Given the description of an element on the screen output the (x, y) to click on. 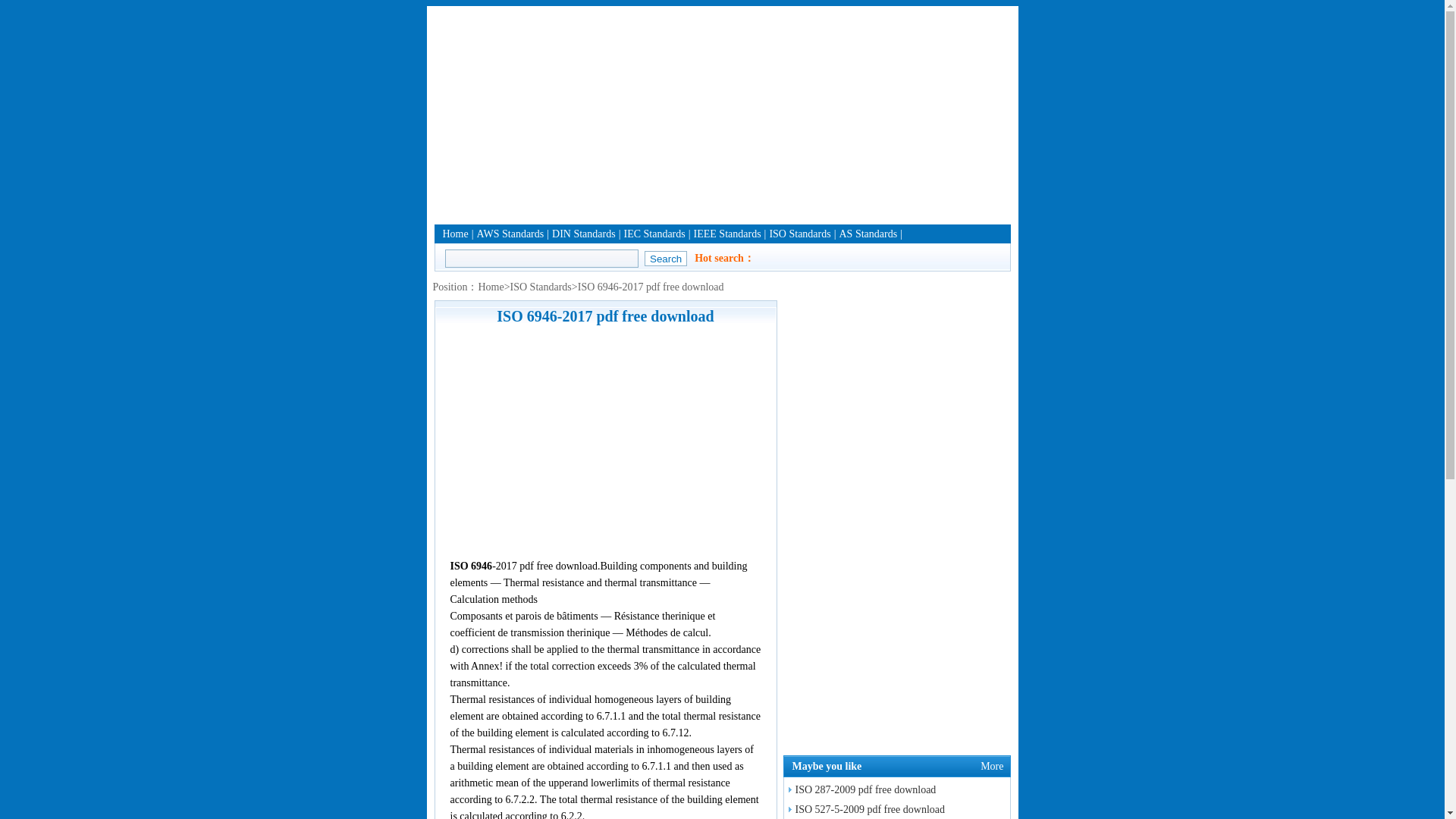
IEEE Standards (727, 233)
AWS Standards (510, 233)
IEC Standards (653, 233)
DIN Standards (583, 233)
Search (666, 258)
AS Standards (867, 233)
ISO Standards (541, 286)
Advertisement (605, 440)
ISO 527-5-2009 pdf free download (864, 808)
Advertisement (721, 111)
ISO Standards (798, 233)
ISO 287-2009 pdf free download (860, 789)
Home (455, 233)
Home (490, 286)
More (991, 766)
